Given the description of an element on the screen output the (x, y) to click on. 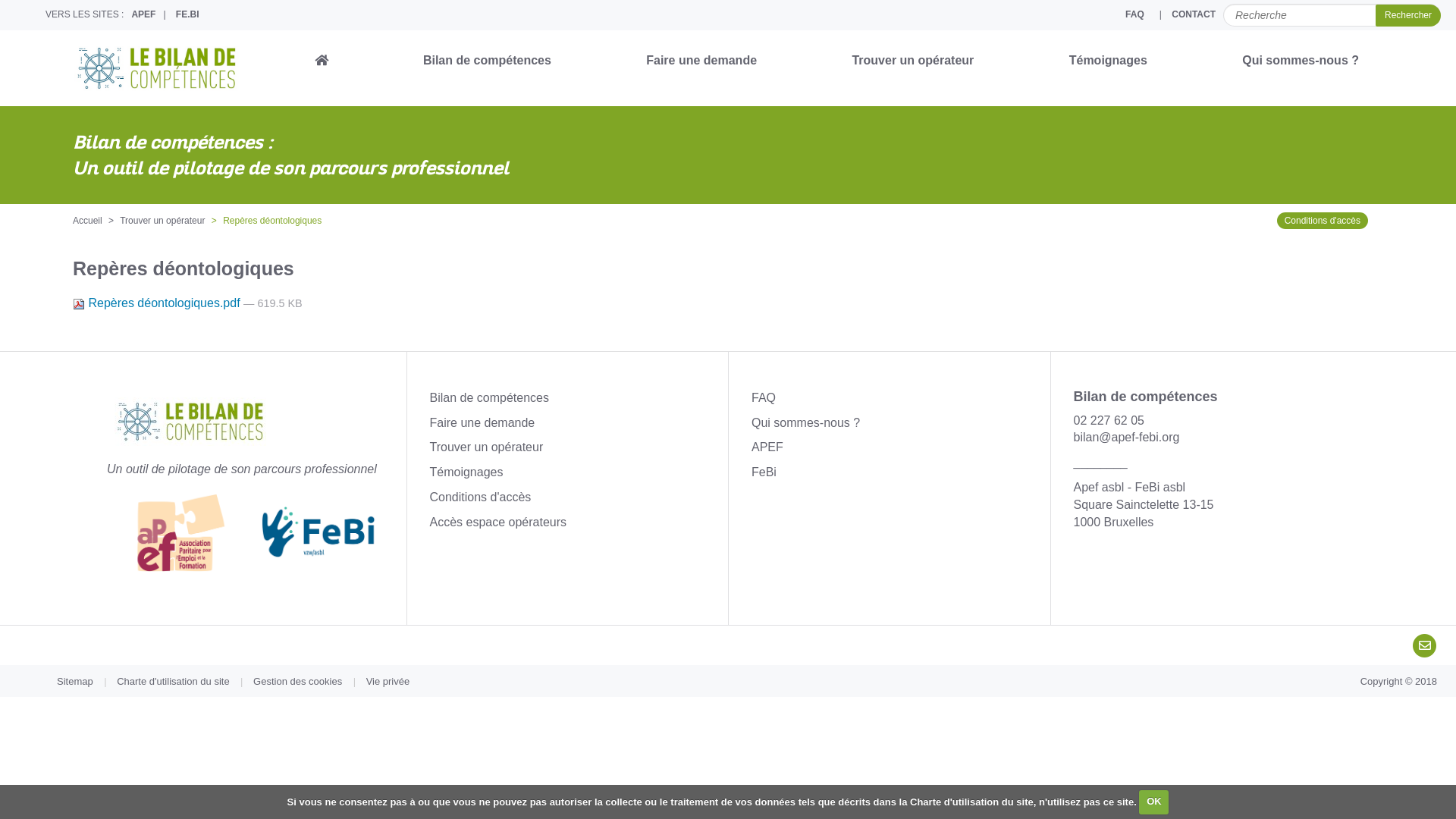
Charte d'utilisation du site Element type: text (172, 681)
Qui sommes-nous ? Element type: text (805, 422)
FAQ Element type: text (763, 397)
Faire une demande Element type: text (701, 60)
Sitemap Element type: text (74, 681)
Logo Apef-Fe.Bi Element type: hover (252, 532)
APEF Element type: text (767, 446)
OK Element type: text (1153, 802)
FeBi Element type: text (763, 471)
Gestion des cookies Element type: text (297, 681)
Rechercher Element type: text (1407, 15)
CONTACT Element type: text (1193, 14)
Qui sommes-nous ? Element type: text (1300, 60)
FE.BI Element type: text (187, 14)
Faire une demande Element type: text (481, 422)
FAQ Element type: text (1134, 14)
Recherche Element type: hover (1331, 14)
APEF Element type: text (143, 14)
bilan@apef-febi.org Element type: text (1126, 436)
Accueil Element type: text (87, 220)
